Given the description of an element on the screen output the (x, y) to click on. 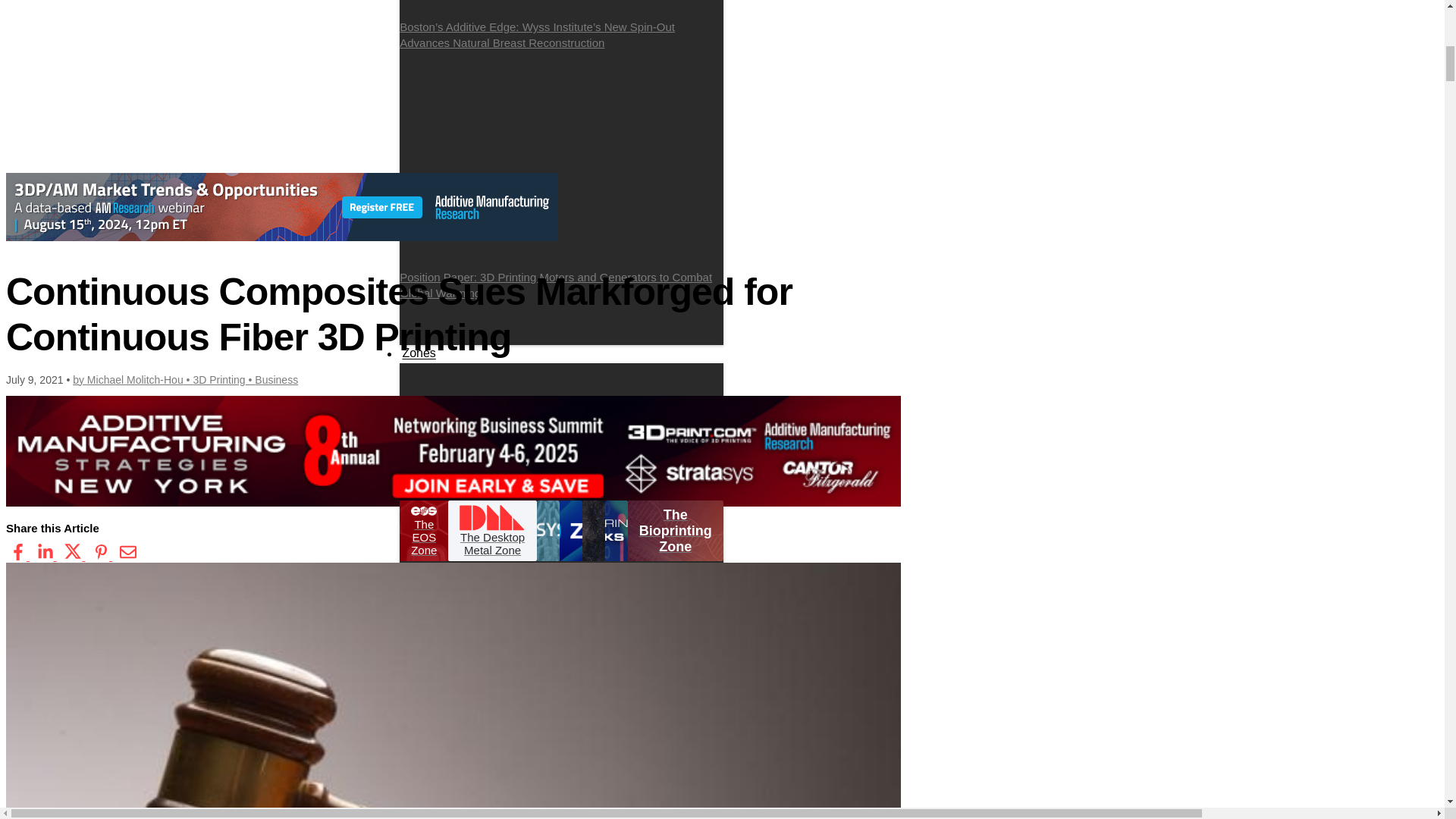
The HP Zone (449, 467)
The Space Zone (567, 467)
Bioprinting Zone (509, 425)
EOS Zone (558, 404)
The Desktop Metal Zone (491, 530)
3D Printing Stocks Zone (527, 478)
Desktop Metal Zone (557, 415)
View All Zones (457, 404)
Zones (418, 353)
